Given the description of an element on the screen output the (x, y) to click on. 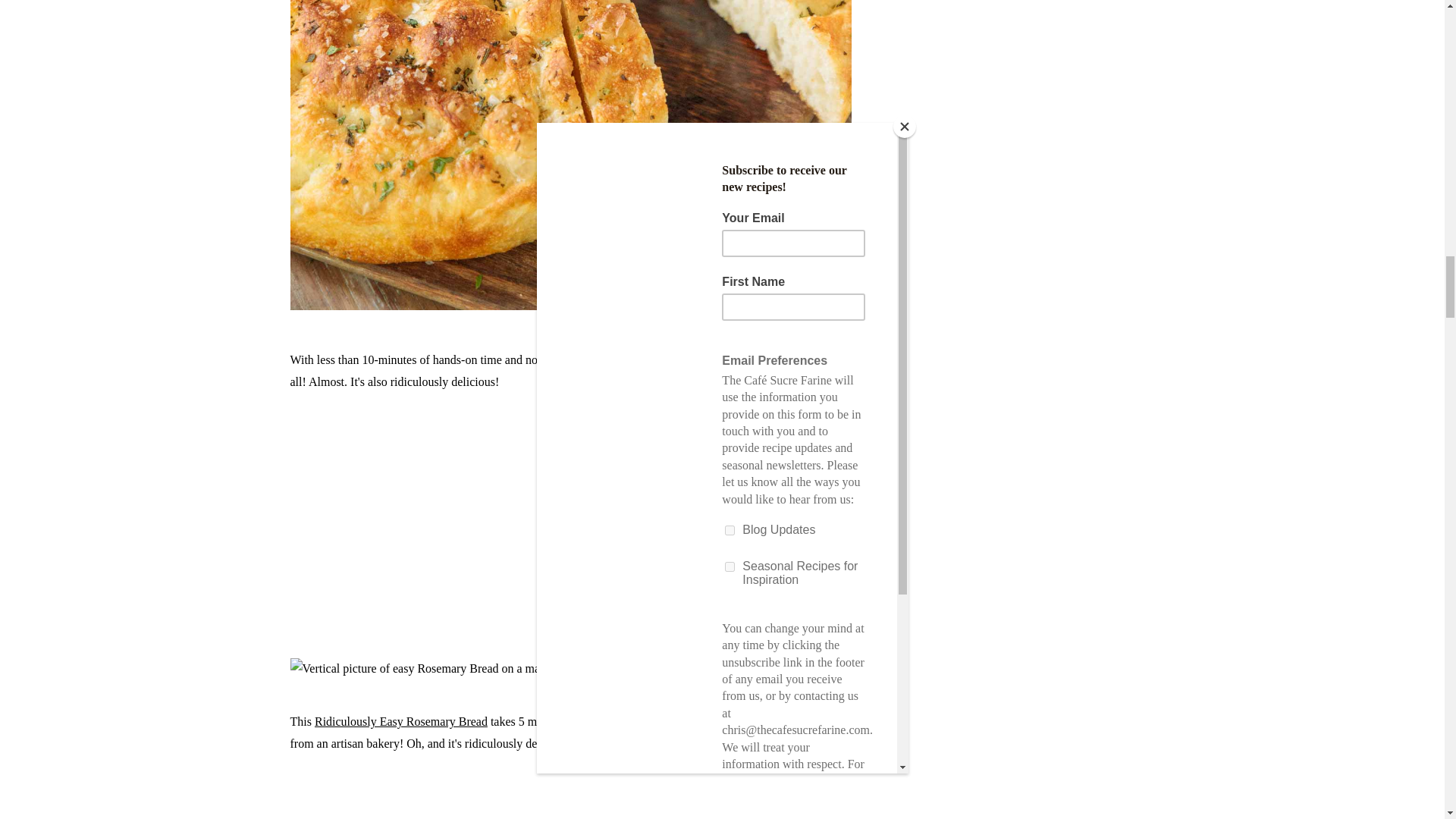
Ridiculously Easy Focaccia Bread (722, 359)
Ridiculously Easy Rosemary Bread (400, 721)
